Given the description of an element on the screen output the (x, y) to click on. 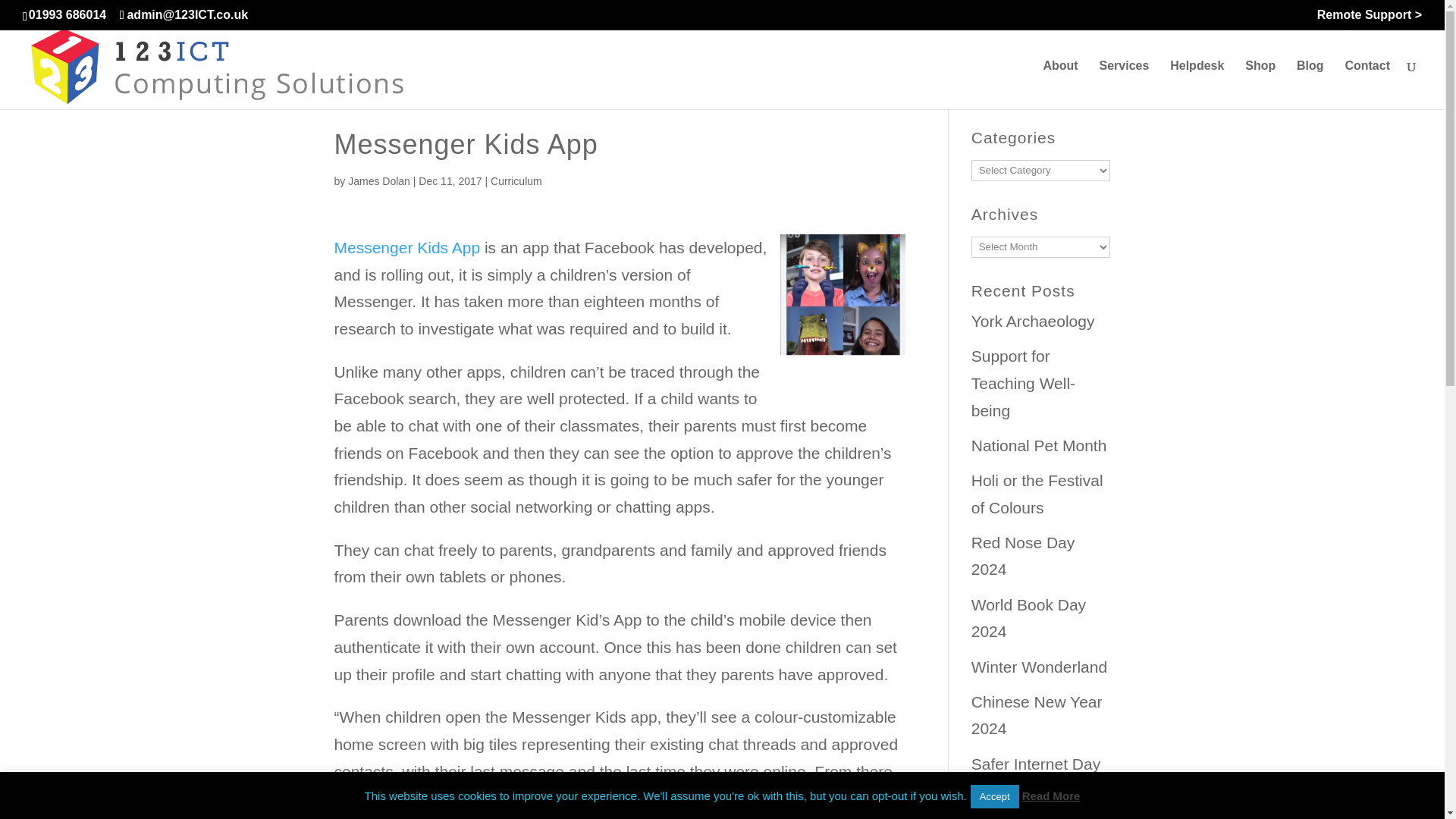
Safer Internet Day 2024 (1035, 777)
Red Nose Day 2024 (1023, 555)
James Dolan (378, 181)
York Archaeology (1032, 321)
Create Day 24 (1022, 817)
Accept (995, 796)
Read More (1051, 795)
National Pet Month (1038, 445)
World Book Day 2024 (1028, 618)
Curriculum (515, 181)
